Given the description of an element on the screen output the (x, y) to click on. 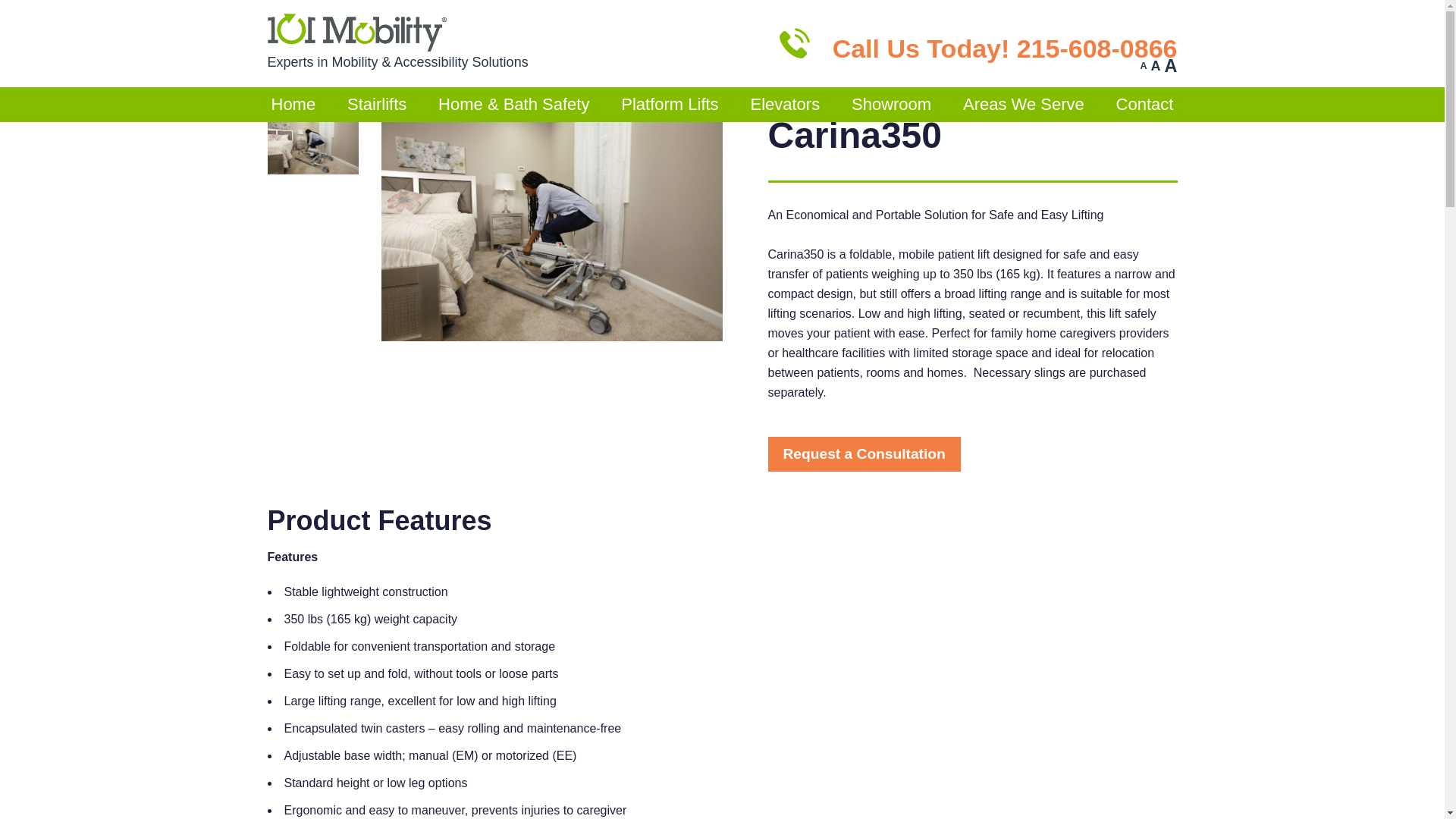
Contact (1144, 104)
Elevators (784, 104)
Stairlifts (376, 104)
Platform Lifts (669, 104)
215-608-0866 (1096, 47)
Showroom (890, 104)
Areas We Serve (1023, 104)
Home (292, 104)
